Given the description of an element on the screen output the (x, y) to click on. 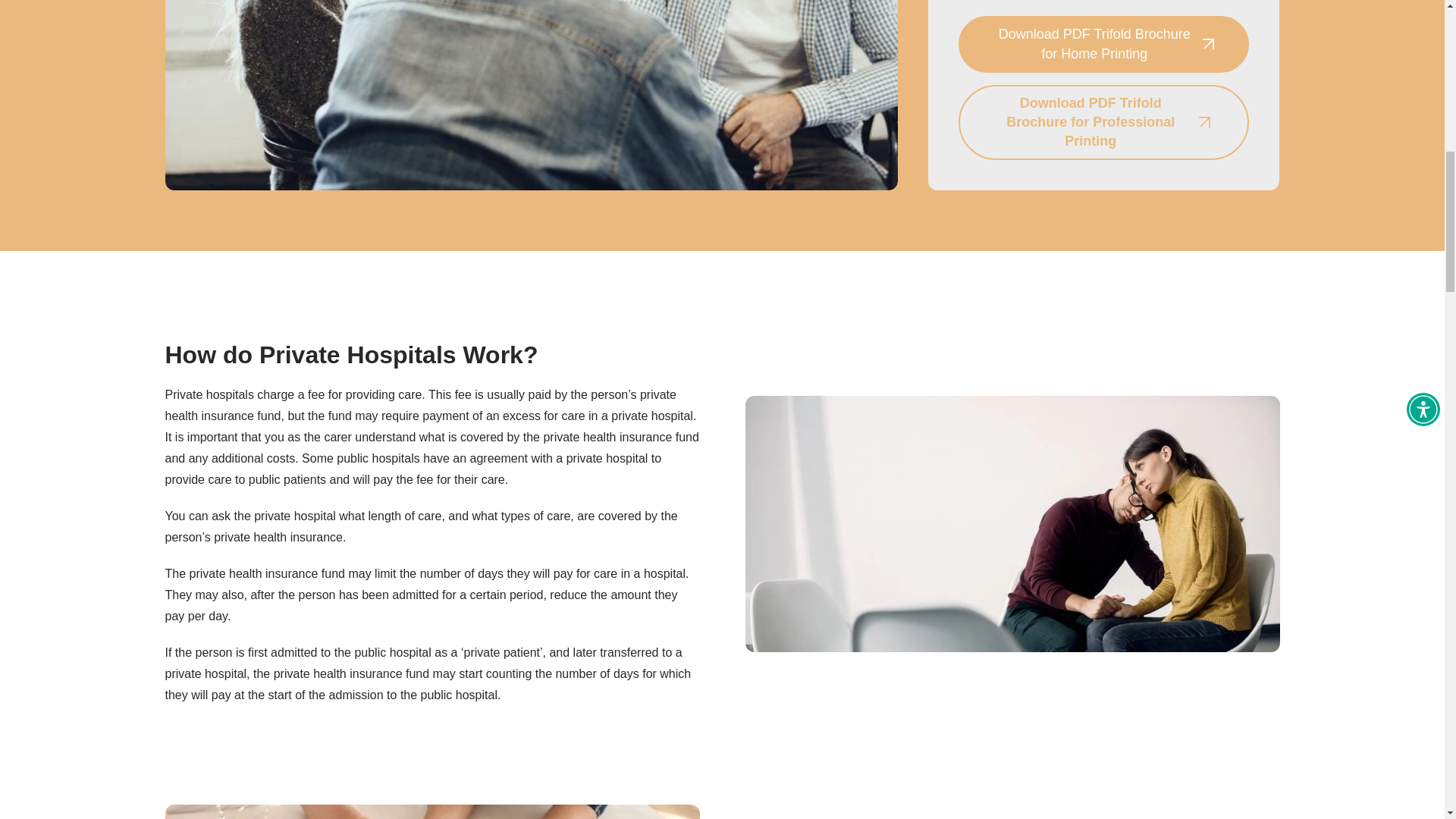
Download PDF Trifold Brochure for Home Printing (1103, 43)
Download PDF Trifold Brochure for Professional Printing (1103, 122)
